Given the description of an element on the screen output the (x, y) to click on. 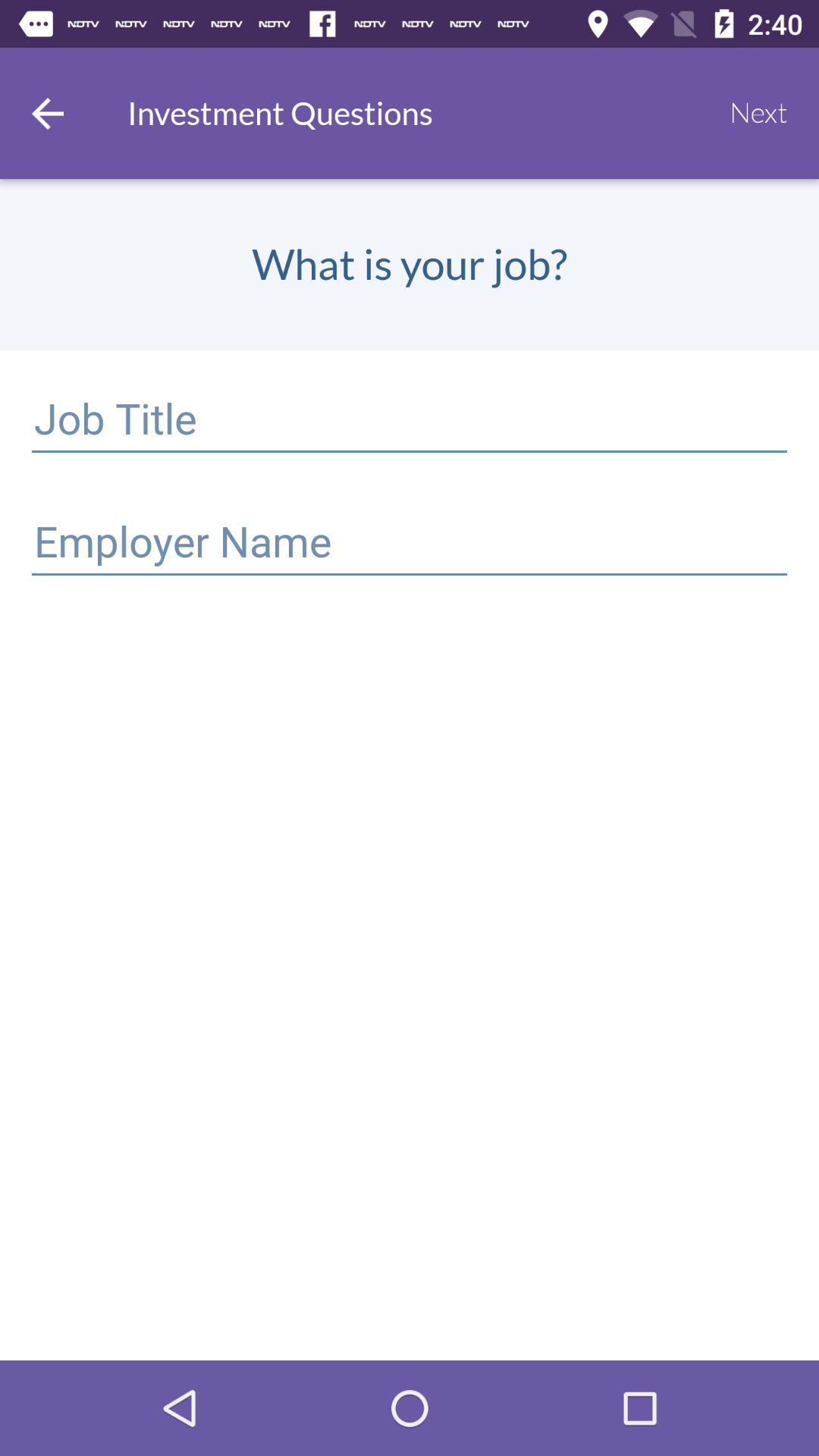
type job title (409, 421)
